Given the description of an element on the screen output the (x, y) to click on. 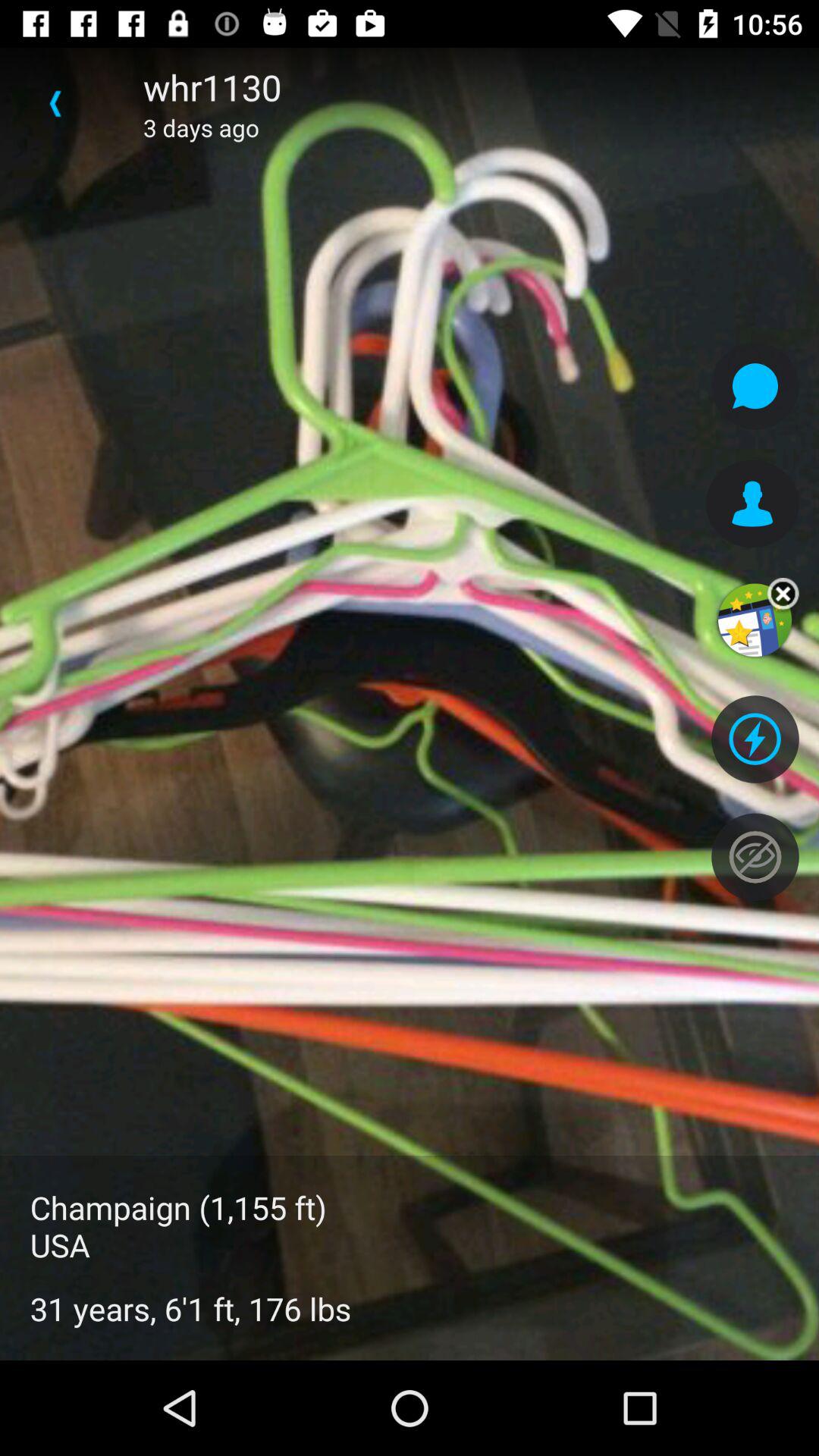
choose item to the left of whr1130 item (55, 103)
